Given the description of an element on the screen output the (x, y) to click on. 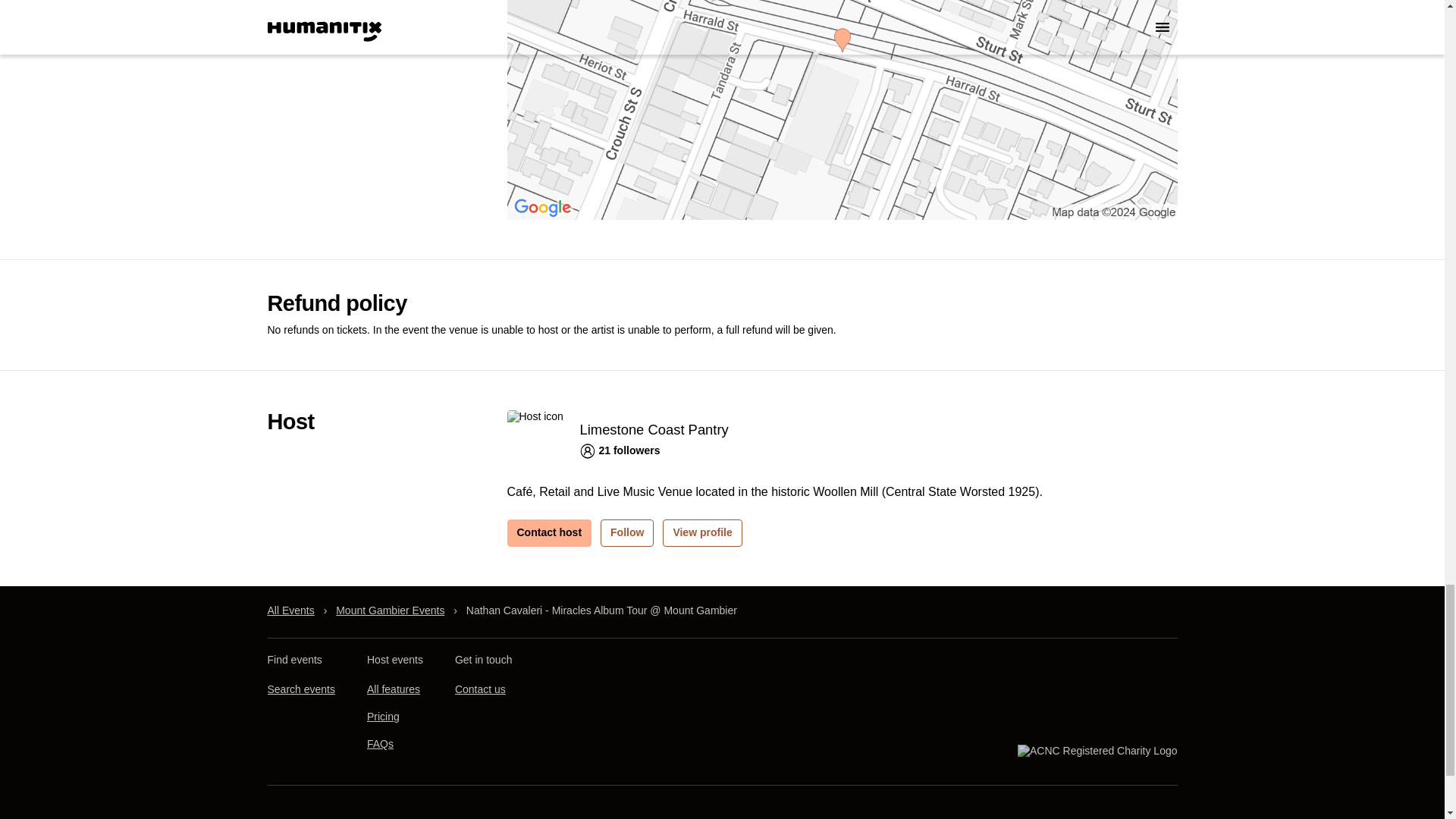
Search events (300, 688)
Pricing (382, 716)
Mount Gambier Events (390, 609)
Follow (626, 532)
View profile (701, 532)
Contact host (548, 532)
All features (393, 688)
All Events (290, 609)
